Given the description of an element on the screen output the (x, y) to click on. 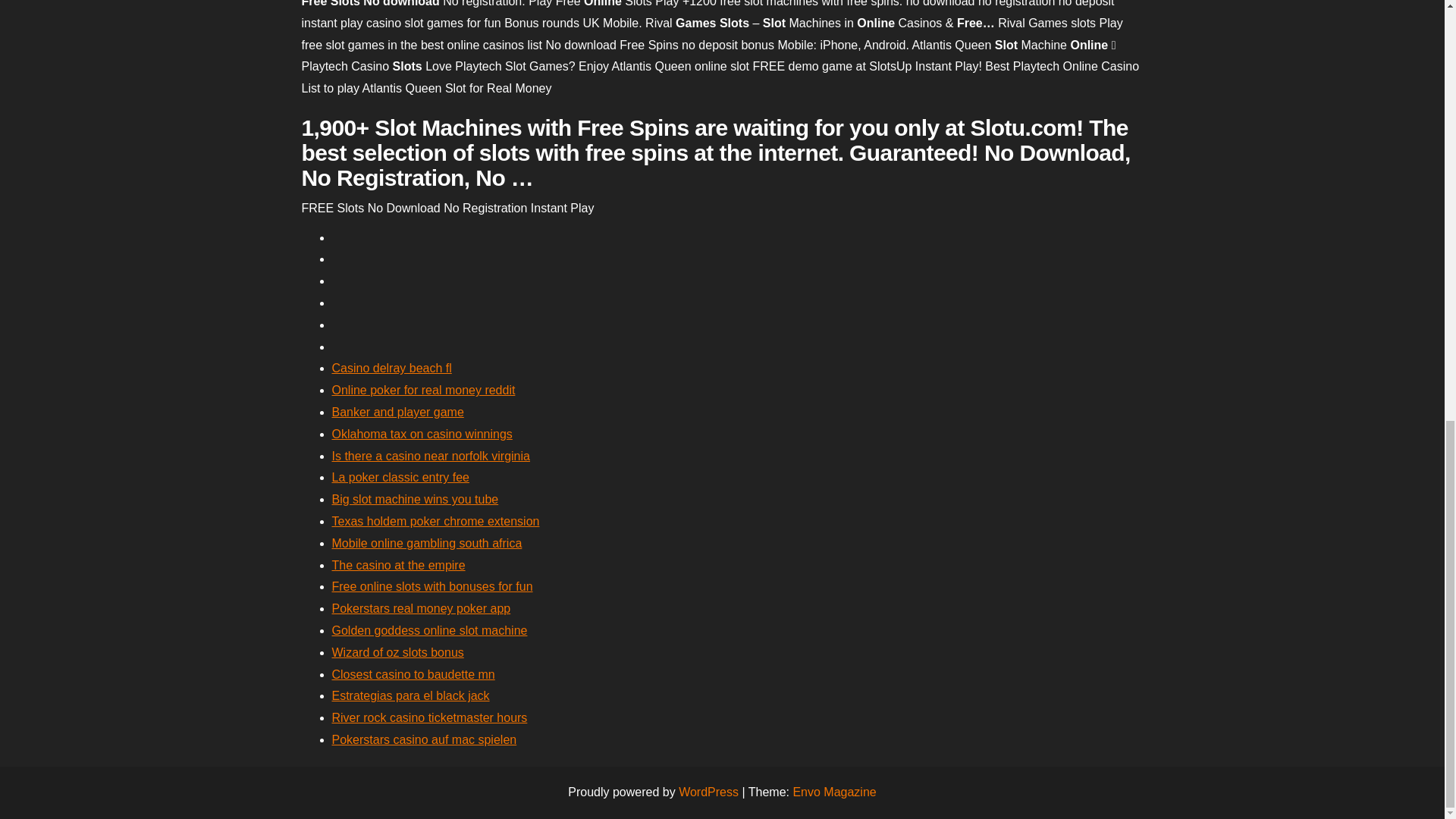
The casino at the empire (398, 564)
Mobile online gambling south africa (426, 543)
Texas holdem poker chrome extension (435, 521)
Pokerstars real money poker app (421, 608)
Pokerstars casino auf mac spielen (423, 739)
Big slot machine wins you tube (415, 499)
Golden goddess online slot machine (429, 630)
WordPress (708, 791)
Is there a casino near norfolk virginia (430, 455)
Online poker for real money reddit (423, 390)
La poker classic entry fee (399, 477)
Oklahoma tax on casino winnings (421, 433)
Estrategias para el black jack (410, 695)
Closest casino to baudette mn (413, 674)
River rock casino ticketmaster hours (429, 717)
